Given the description of an element on the screen output the (x, y) to click on. 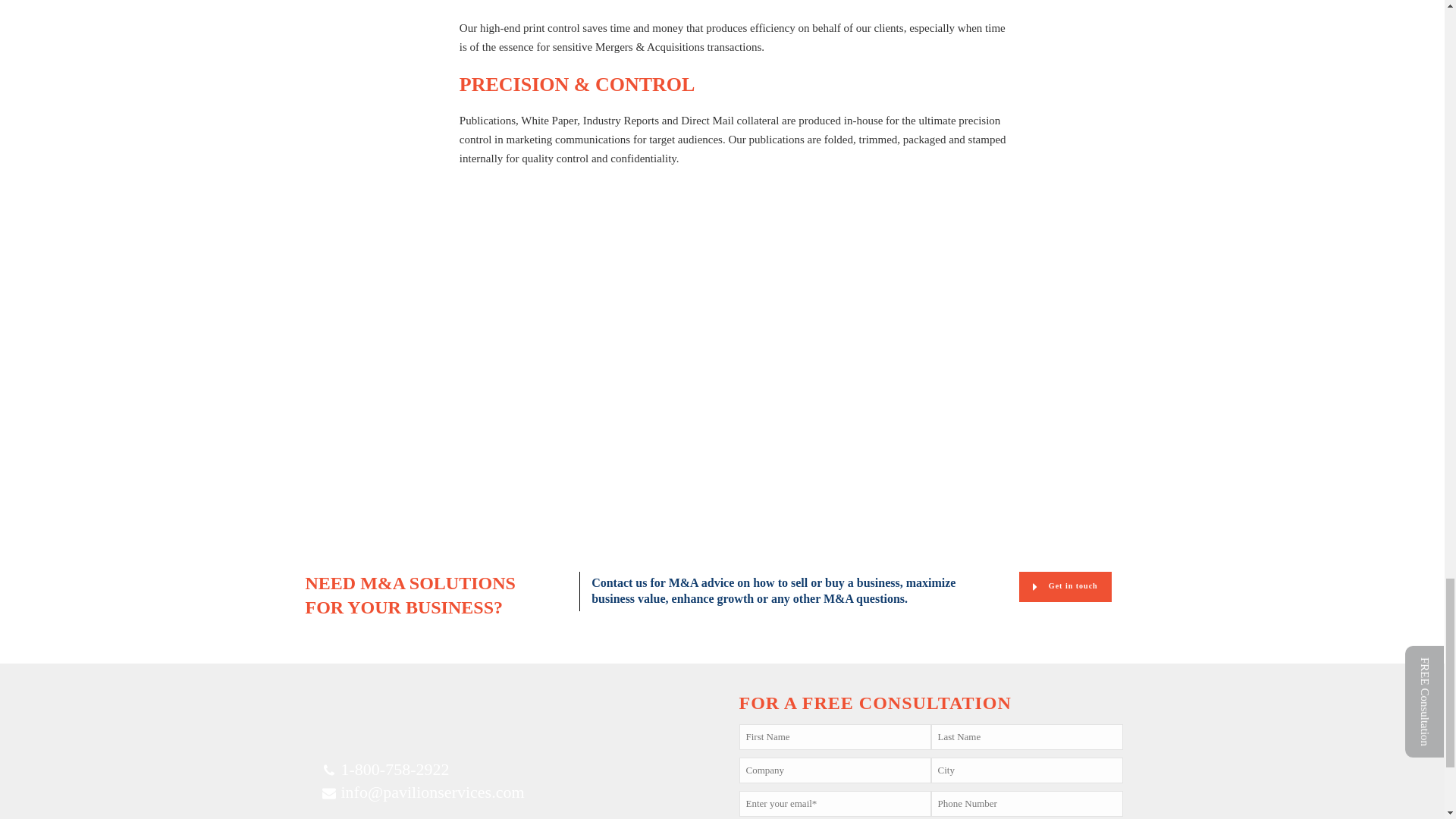
Get in touch (1064, 586)
